Given the description of an element on the screen output the (x, y) to click on. 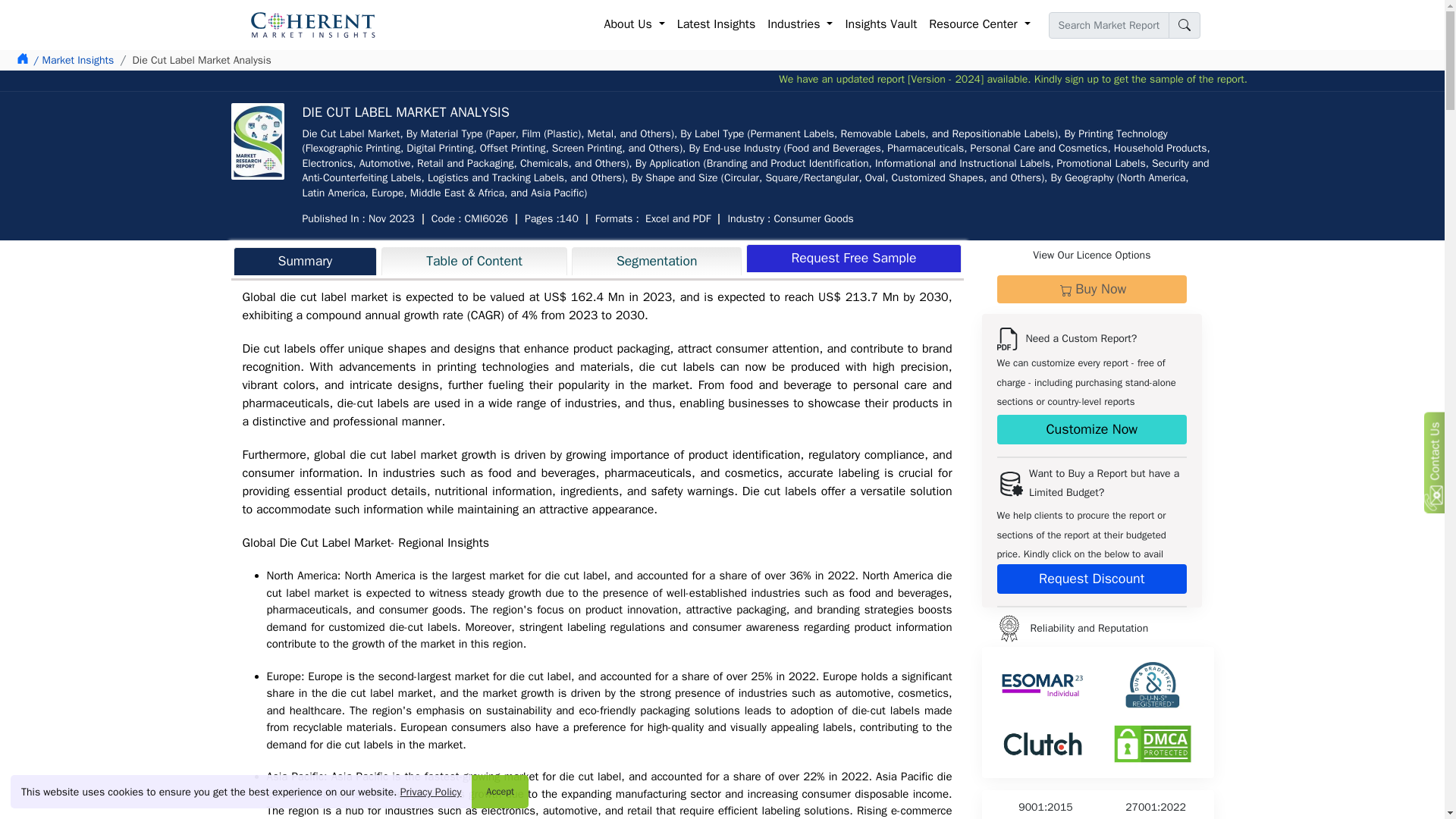
Industries (799, 24)
Accept (499, 791)
Consumer Goods (813, 218)
Privacy Policy (430, 791)
Market Insights (73, 60)
search (1183, 25)
Coherent Market Insights (312, 24)
Latest Insights (716, 24)
About Us (634, 24)
